Given the description of an element on the screen output the (x, y) to click on. 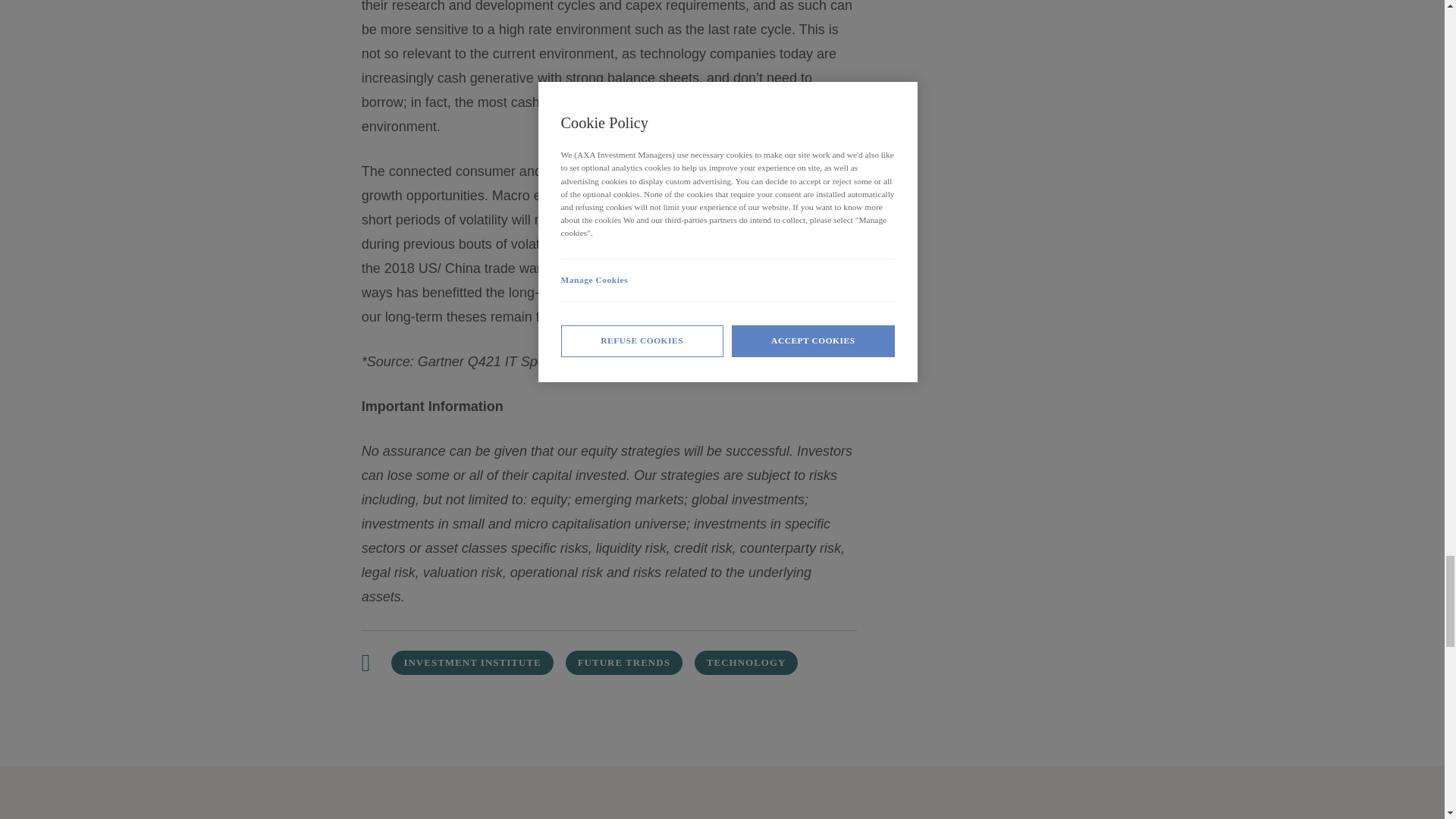
Explore Investment Institute insights (472, 662)
Explore Technology insights (745, 662)
Explore Future Trends insights (624, 662)
